Given the description of an element on the screen output the (x, y) to click on. 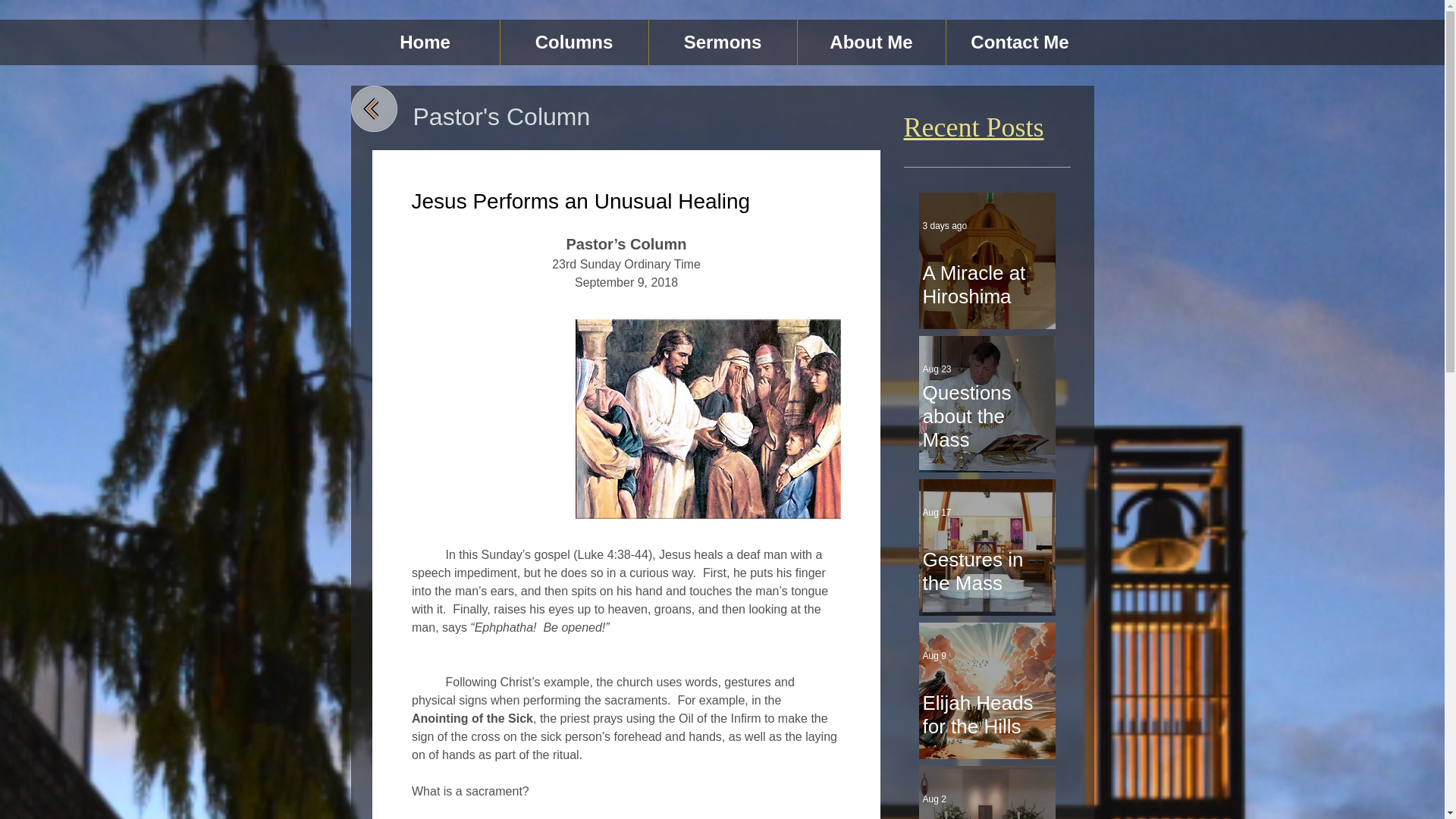
A Miracle at Hiroshima (986, 278)
Aug 9 (932, 655)
Sermons (722, 42)
Aug 2 (932, 798)
Contact Me (1020, 42)
Questions about the Mass (986, 409)
Elijah Heads for the Hills (986, 708)
Aug 23 (935, 368)
Home (424, 42)
Columns (573, 42)
